Given the description of an element on the screen output the (x, y) to click on. 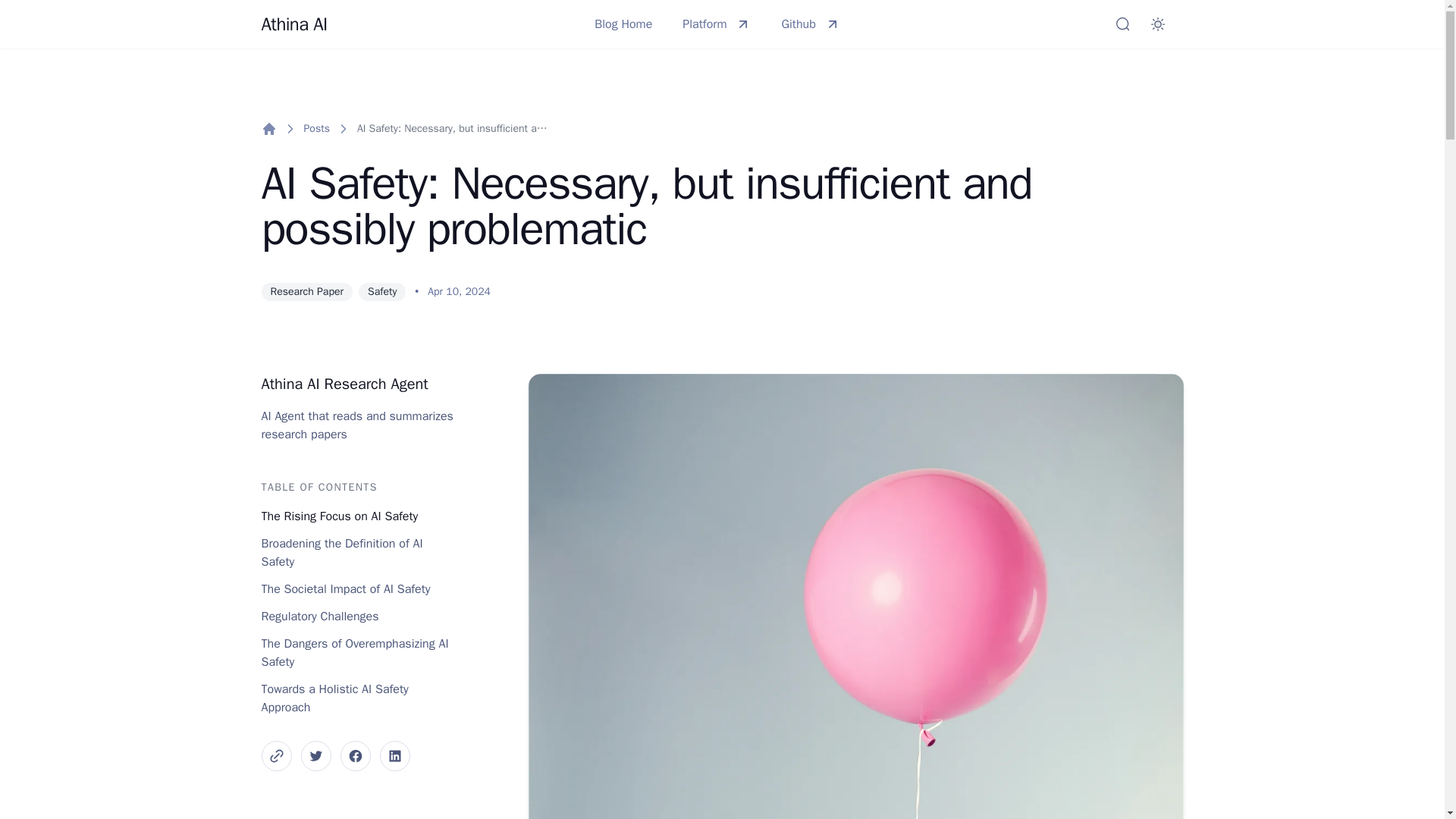
Twitter (314, 756)
Regulatory Challenges (357, 616)
Broadening the Definition of AI Safety (357, 552)
The Rising Focus on AI Safety (357, 515)
Platform (716, 23)
The Dangers of Overemphasizing AI Safety (357, 652)
Athina AI Research Agent (344, 383)
Athina AI (293, 24)
Github (809, 23)
Home (268, 128)
Blog Home (623, 23)
LinkedIn (393, 756)
Towards a Holistic AI Safety Approach (357, 698)
Posts (315, 128)
Safety (382, 291)
